Given the description of an element on the screen output the (x, y) to click on. 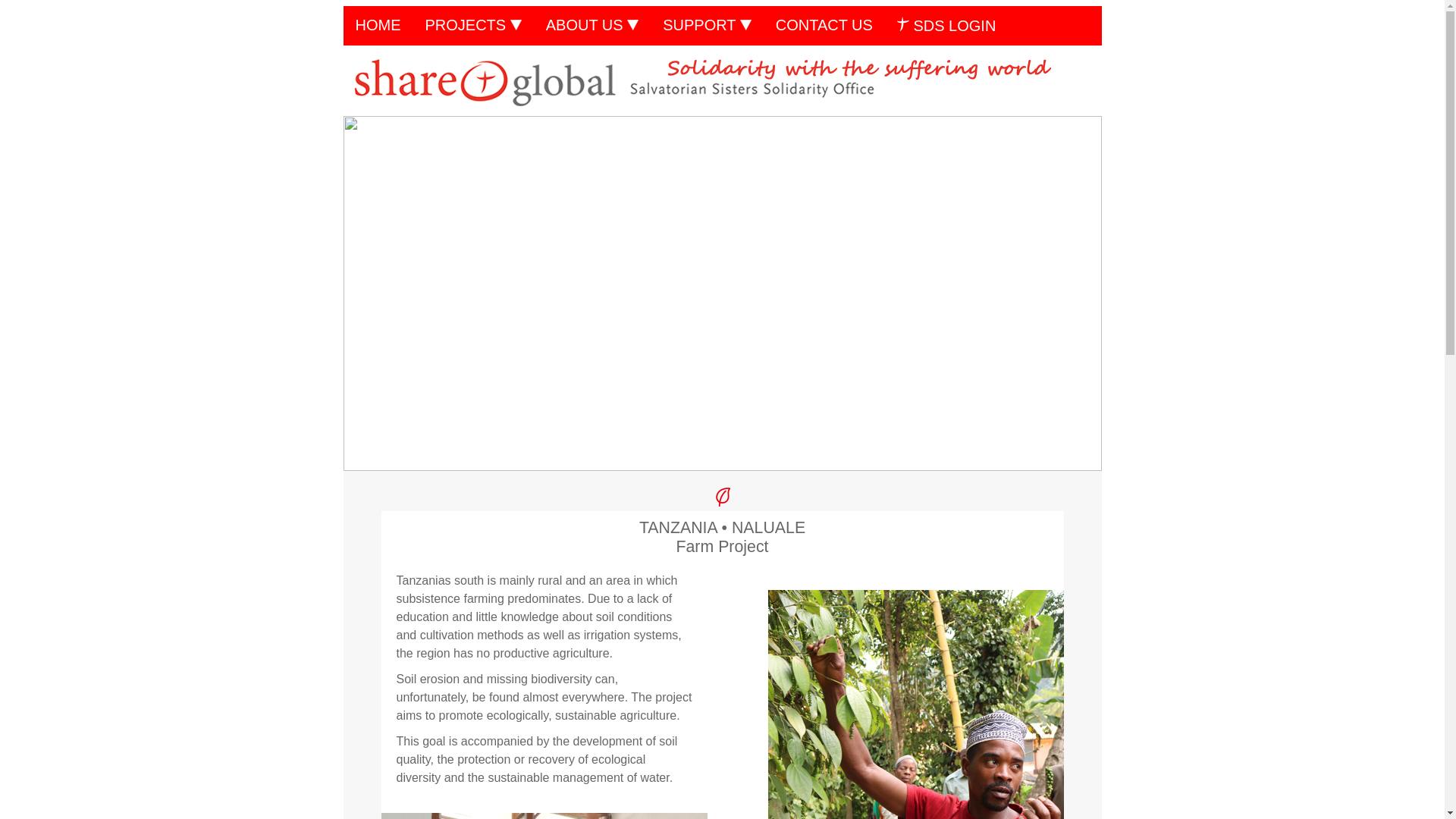
SUPPORT (706, 25)
SDS LOGIN (946, 25)
HOME (377, 25)
CONTACT US (823, 25)
ABOUT US (592, 25)
PROJECTS (472, 25)
